Given the description of an element on the screen output the (x, y) to click on. 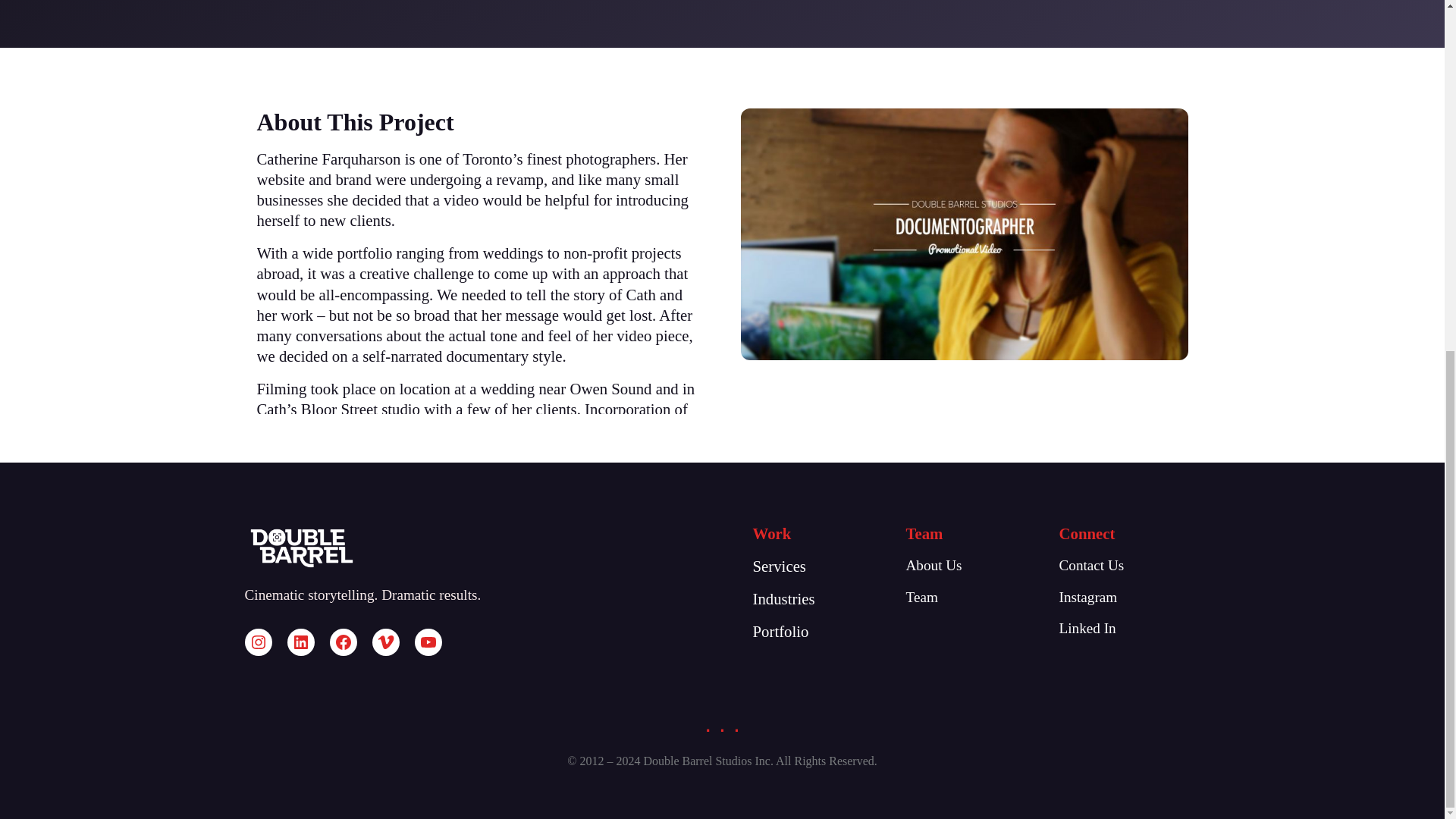
Industries (782, 598)
Facebook (342, 642)
Portfolio (780, 630)
About Us (932, 565)
YouTube (427, 642)
Contact Us (1091, 565)
Team (921, 596)
Vimeo (384, 642)
Instagram (257, 642)
Services (778, 565)
